Given the description of an element on the screen output the (x, y) to click on. 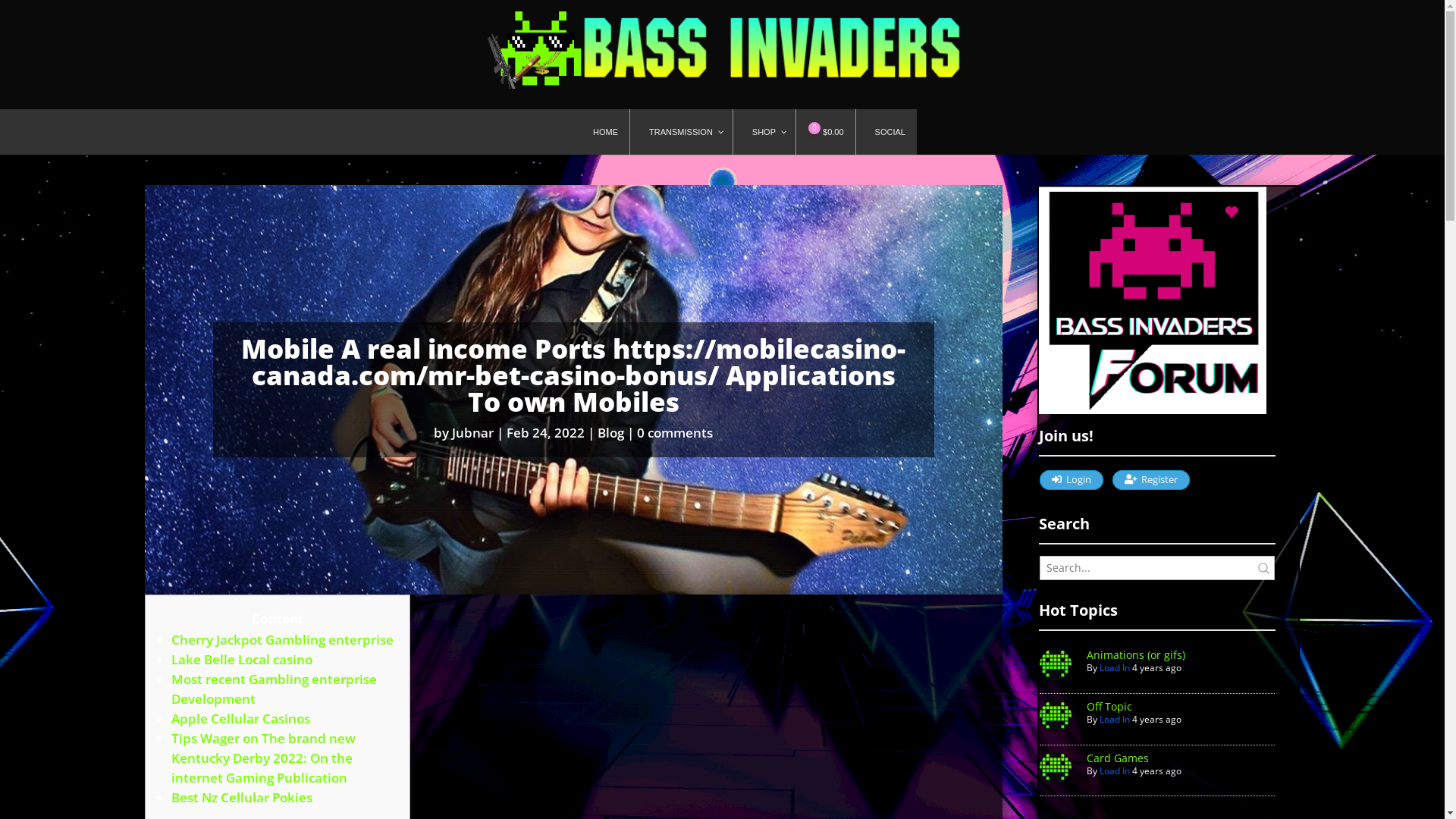
0
$0.00 Element type: text (825, 131)
Lake Belle Local casino Element type: text (241, 659)
Best Nz Cellular Pokies Element type: text (241, 797)
Apple Cellular Casinos Element type: text (240, 718)
Load In Element type: text (1114, 718)
Load In Element type: hover (1055, 715)
Login Element type: text (1071, 479)
Load In Element type: hover (1055, 664)
SHOP Element type: text (763, 131)
Load In Element type: hover (1055, 767)
Most recent Gambling enterprise Development Element type: text (273, 688)
Register Element type: text (1150, 479)
TRANSMISSION Element type: text (680, 131)
Animations (or gifs) Element type: text (1135, 654)
Blog Element type: text (610, 432)
Card Games Element type: text (1117, 757)
Load In Element type: text (1114, 667)
Load In Element type: text (1114, 770)
Off Topic Element type: text (1109, 706)
Cherry Jackpot Gambling enterprise Element type: text (282, 639)
0 comments Element type: text (674, 432)
HOME Element type: text (601, 131)
SOCIAL Element type: text (885, 131)
Jubnar Element type: text (472, 432)
